Given the description of an element on the screen output the (x, y) to click on. 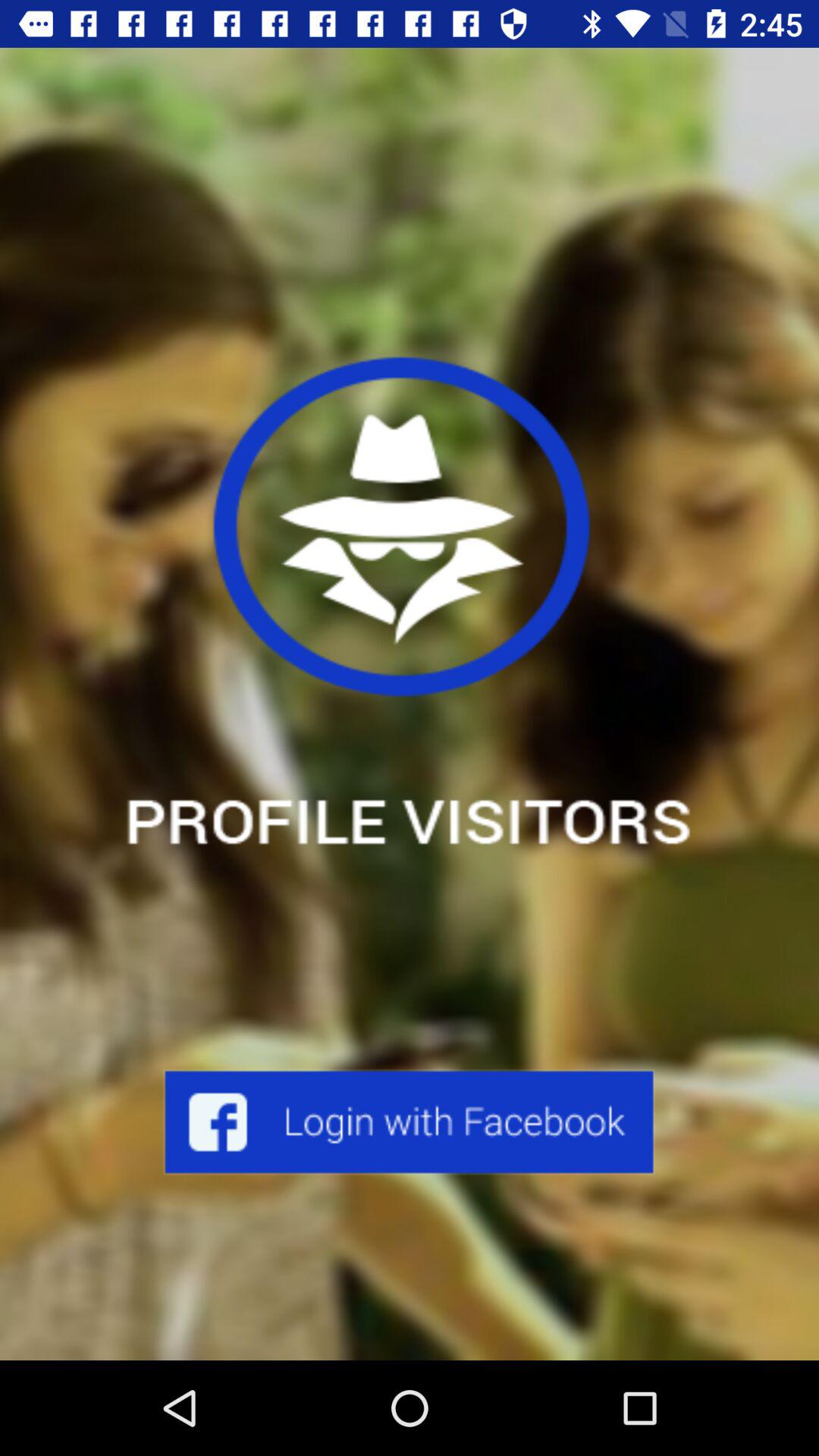
face book login enter option (409, 1122)
